Given the description of an element on the screen output the (x, y) to click on. 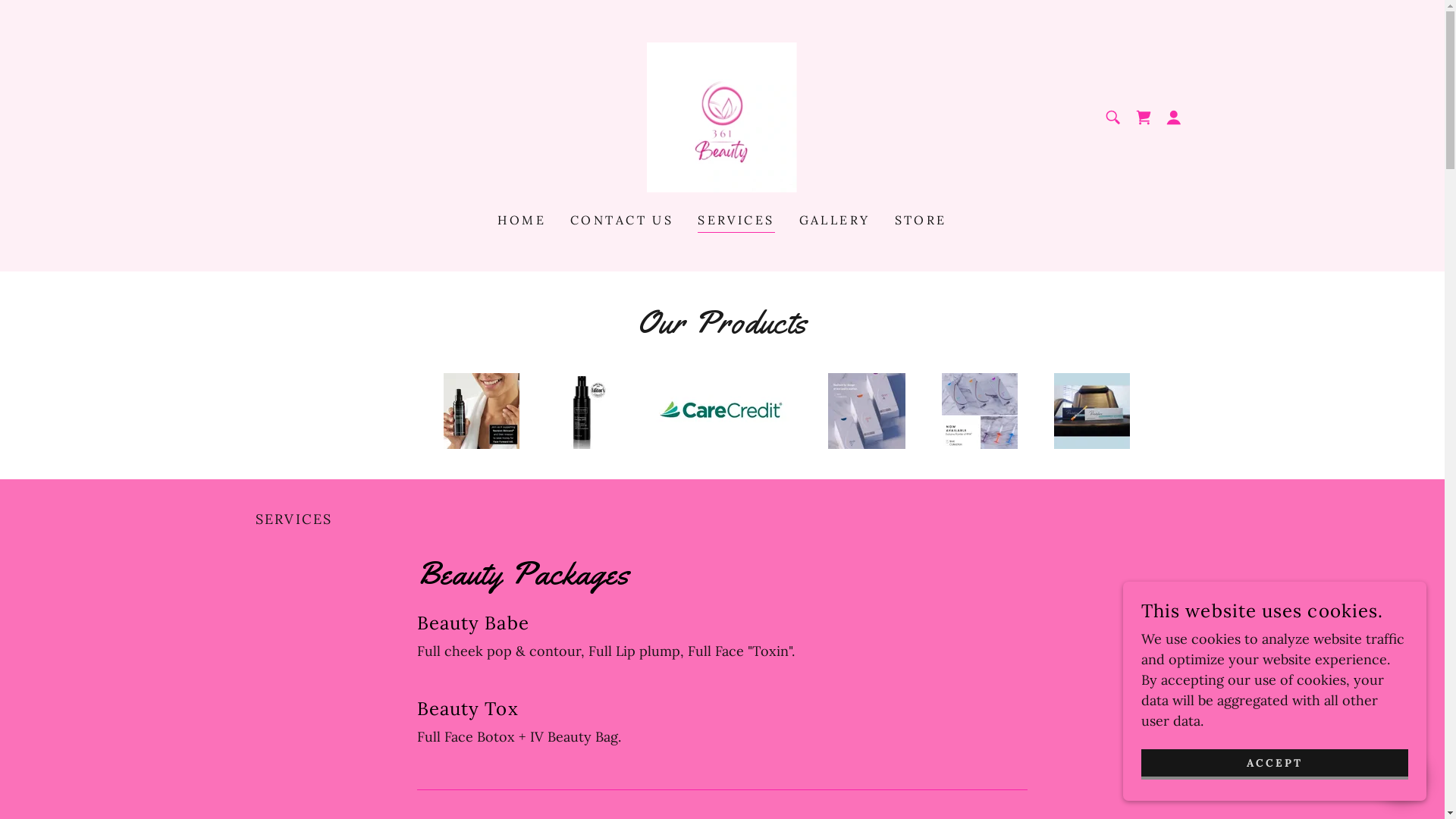
361 BEAUTY 
MED SPA Element type: hover (721, 116)
CONTACT US Element type: text (621, 219)
GALLERY Element type: text (834, 219)
HOME Element type: text (521, 219)
SERVICES Element type: text (735, 221)
ACCEPT Element type: text (1274, 764)
STORE Element type: text (920, 219)
